Given the description of an element on the screen output the (x, y) to click on. 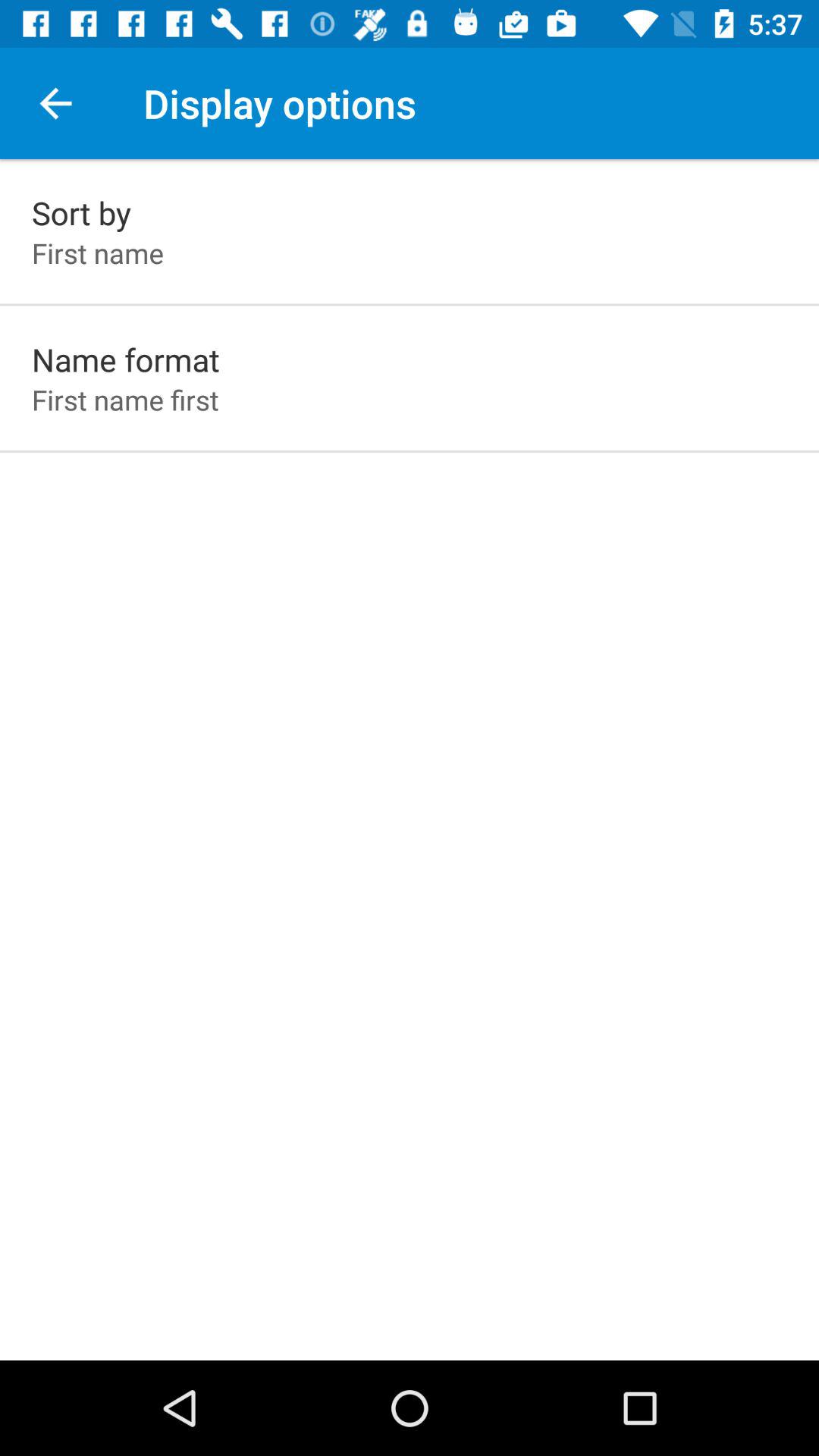
press app below the first name app (125, 359)
